Given the description of an element on the screen output the (x, y) to click on. 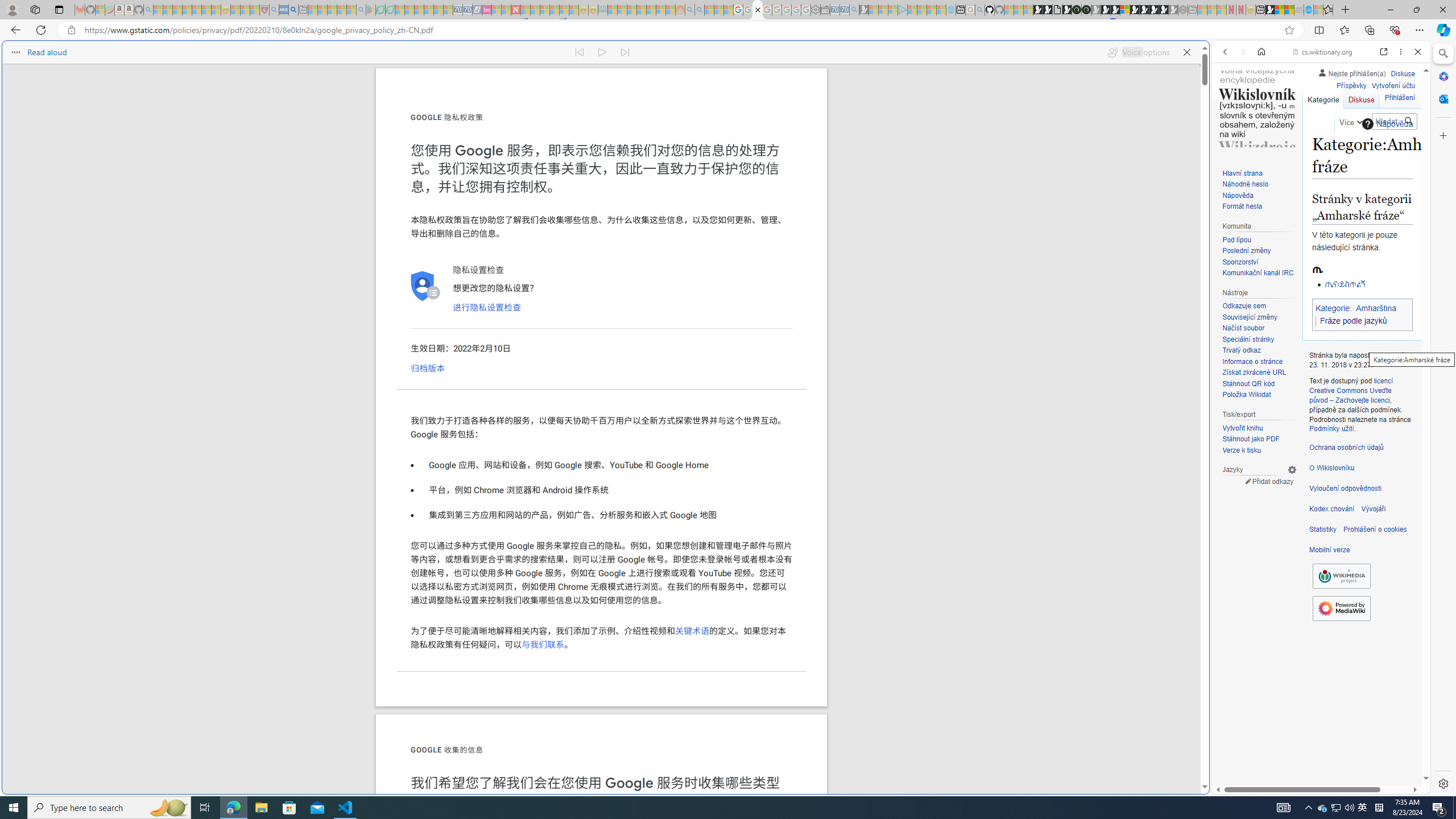
MSN (1118, 536)
Odkazuje sem (1243, 306)
Voice options (1138, 52)
cs.wiktionary.org (1322, 51)
Search Filter, IMAGES (1262, 129)
AutomationID: footer-copyrightico (1341, 576)
